Given the description of an element on the screen output the (x, y) to click on. 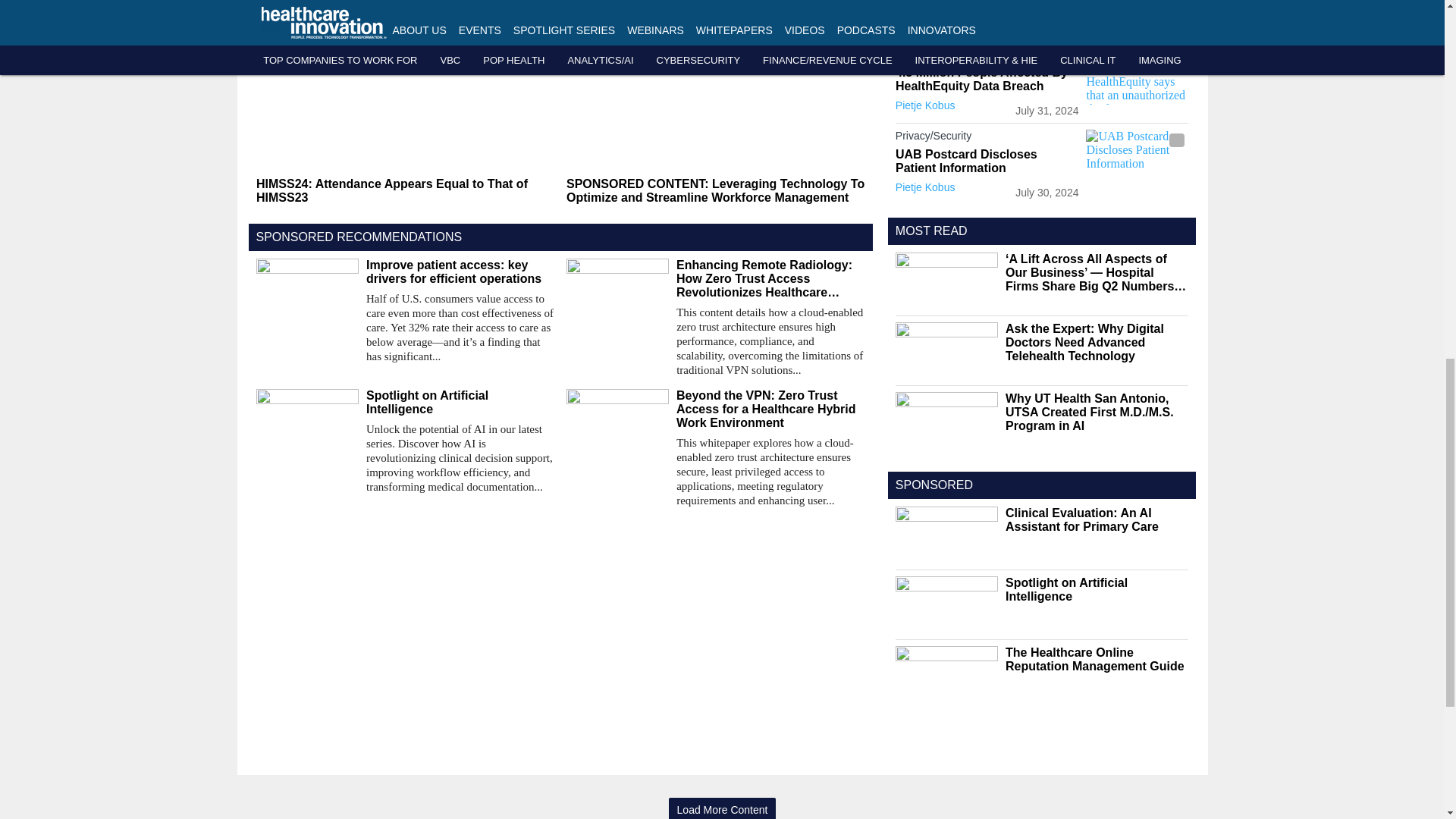
UAB Postcard Discloses Patient Information (1137, 157)
Improve patient access: key drivers for efficient operations (459, 271)
Spotlight on Artificial Intelligence (459, 402)
HIMSS24: Attendance Appears Equal to That of HIMSS23 (405, 190)
